Given the description of an element on the screen output the (x, y) to click on. 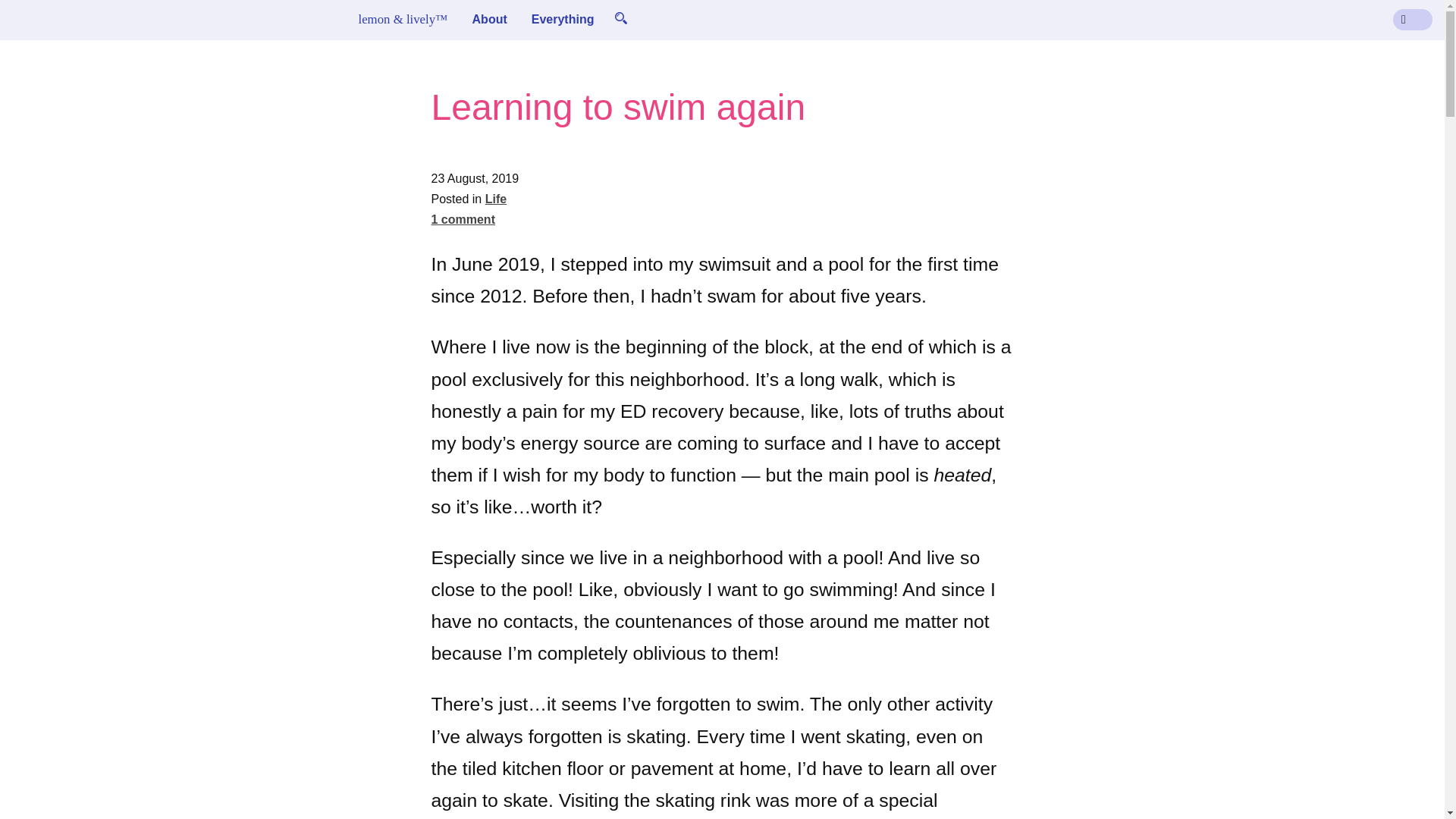
Life (495, 198)
1 comment (462, 219)
About (489, 18)
Skip to content (43, 18)
Everything (563, 18)
